Given the description of an element on the screen output the (x, y) to click on. 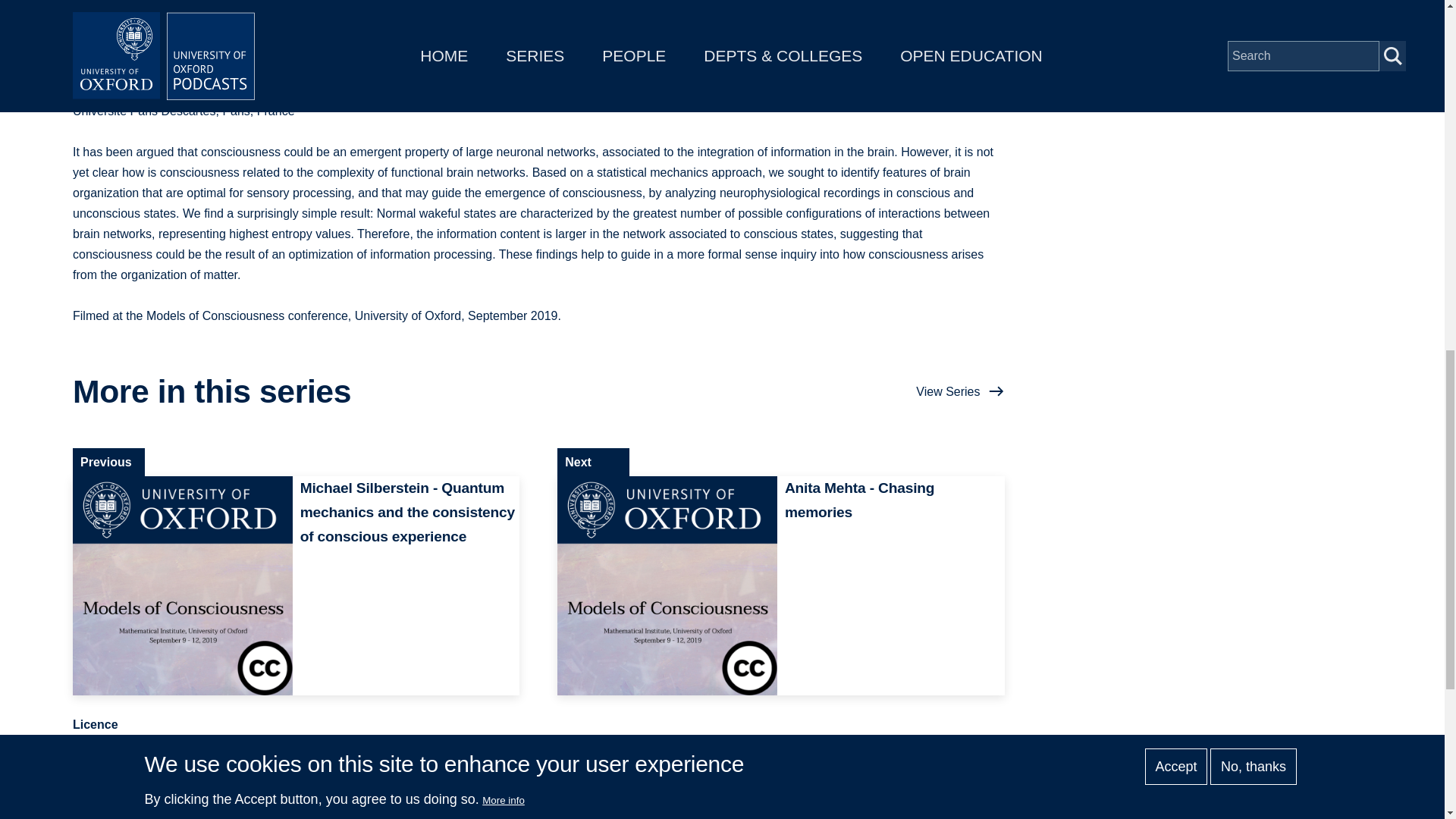
View Series (959, 391)
Anita Mehta - Chasing memories (780, 585)
